Given the description of an element on the screen output the (x, y) to click on. 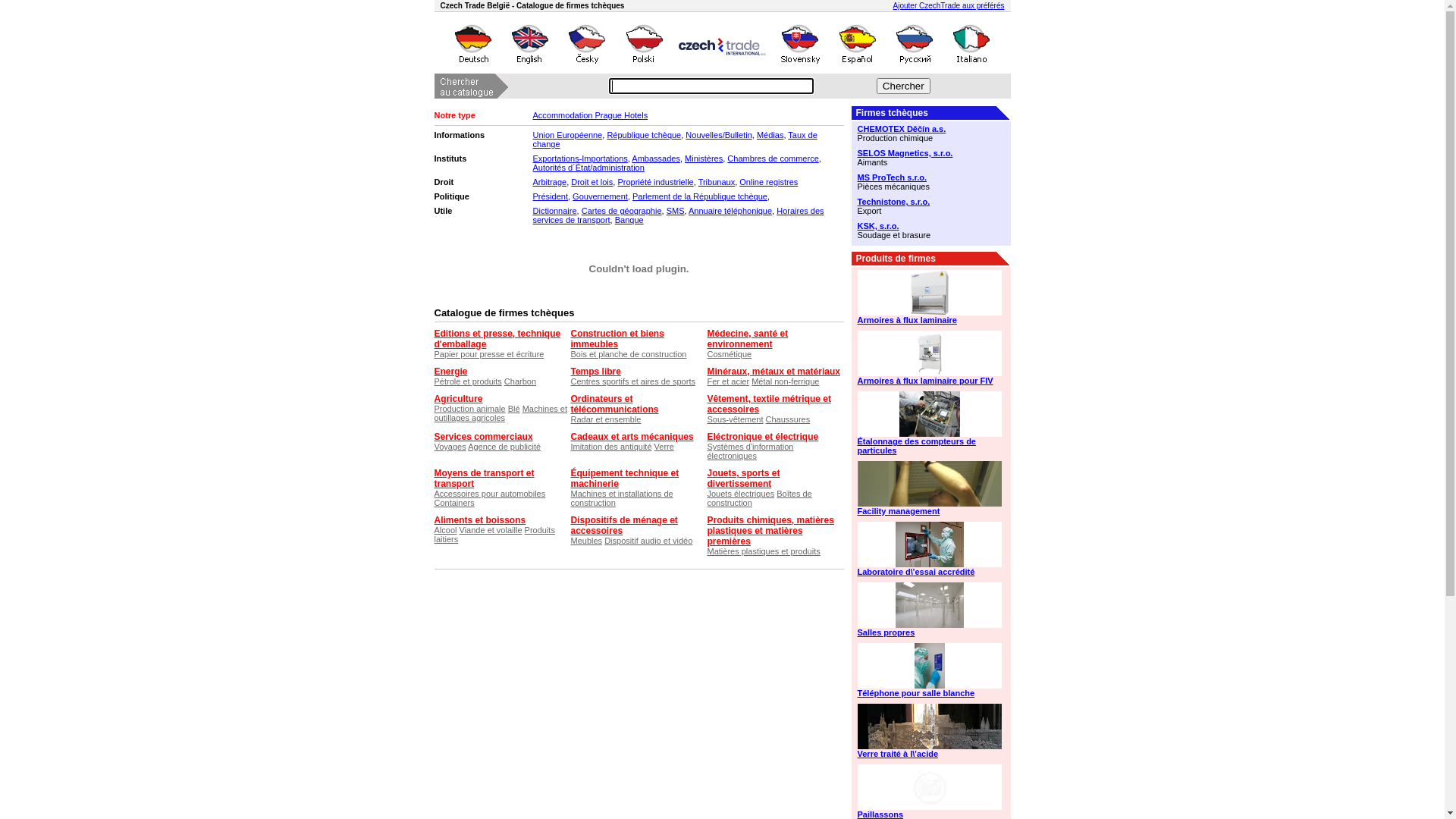
Banque Element type: text (629, 219)
Centres sportifs et aires de sports Element type: text (632, 380)
Machines et outillages agricoles Element type: text (500, 413)
Viande et volaille Element type: text (490, 529)
Agriculture Element type: text (457, 398)
Meubles Element type: text (586, 540)
Charbon Element type: text (520, 380)
Taux de change Element type: text (674, 139)
Tribunaux Element type: text (716, 181)
MS ProTech s.r.o. Element type: text (930, 177)
Verre Element type: text (664, 446)
Technistone, s.r.o. Element type: text (930, 201)
Aliments et boissons Element type: text (479, 519)
Salles propres Element type: text (930, 632)
Chambres de commerce Element type: text (772, 158)
Produits laitiers Element type: text (493, 534)
Containers Element type: text (453, 502)
Droit et lois Element type: text (591, 181)
KSK, s.r.o. Element type: text (930, 225)
Arbitrage Element type: text (549, 181)
Energie Element type: text (450, 371)
Horaires des services de transport Element type: text (677, 215)
Jouets, sports et divertissement Element type: text (742, 478)
Chaussures Element type: text (787, 418)
Chercher Element type: text (903, 86)
Nouvelles/Bulletin Element type: text (718, 134)
Fer et acier Element type: text (727, 380)
Radar et ensemble Element type: text (605, 418)
Bois et planche de construction Element type: text (628, 353)
SMS Element type: text (675, 210)
Editions et presse, technique d'emballage Element type: text (496, 338)
Facility management Element type: text (930, 510)
SELOS Magnetics, s.r.o. Element type: text (930, 152)
Services commerciaux Element type: text (482, 436)
Construction et biens immeubles Element type: text (616, 338)
Machines et installations de construction Element type: text (621, 498)
Production animale Element type: text (469, 408)
Dictionnaire Element type: text (554, 210)
Temps libre Element type: text (595, 371)
Moyens de transport et transport Element type: text (483, 478)
Voyages Element type: text (449, 446)
Accessoires pour automobiles Element type: text (489, 493)
Online registres Element type: text (768, 181)
Ambassades Element type: text (655, 158)
Exportations-Importations Element type: text (579, 158)
Alcool Element type: text (444, 529)
Accommodation Prague Hotels Element type: text (589, 114)
Gouvernement Element type: text (599, 195)
